Given the description of an element on the screen output the (x, y) to click on. 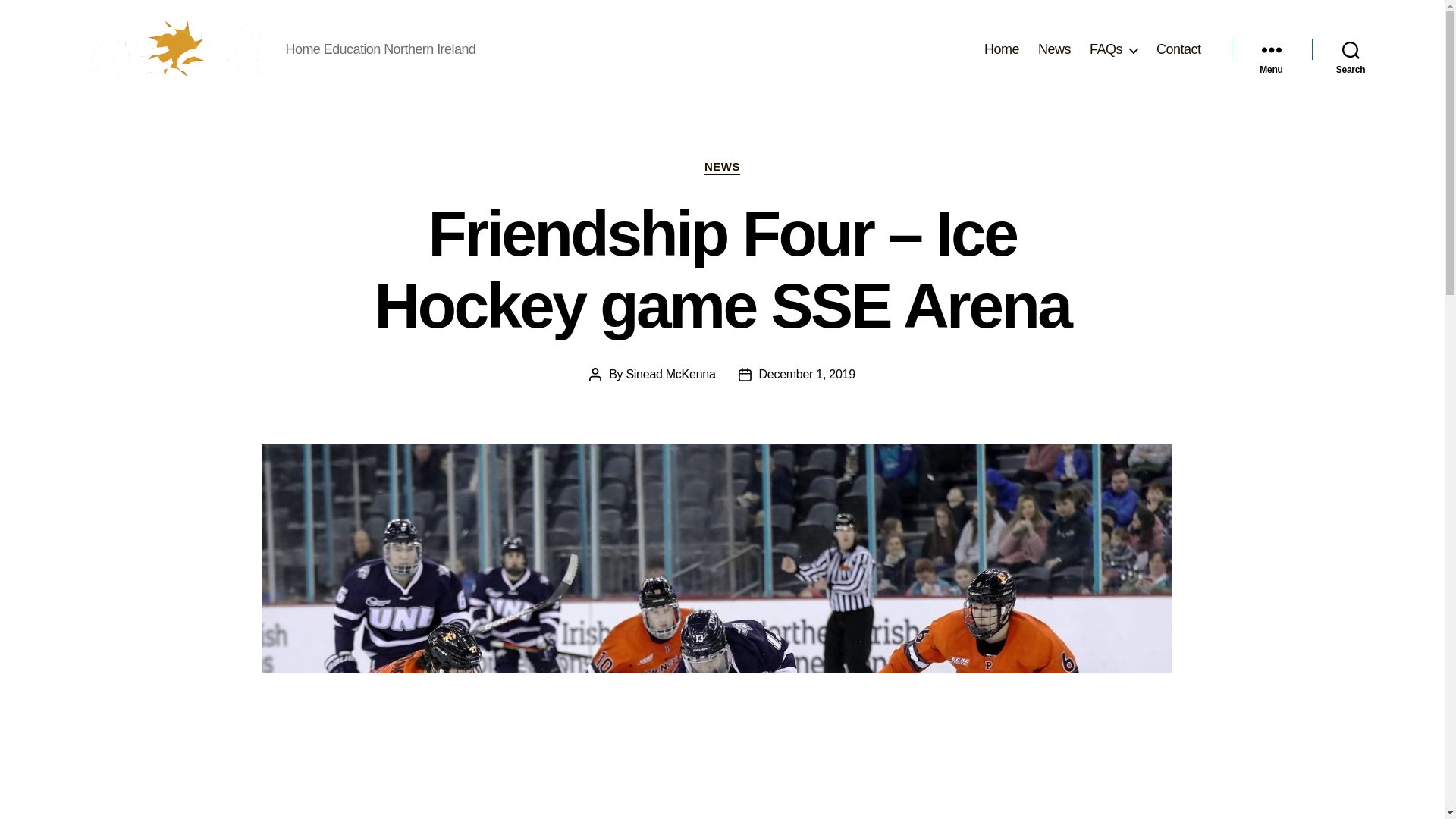
FAQs (1113, 49)
Menu (1271, 49)
News (1054, 49)
Contact (1178, 49)
Search (1350, 49)
Home (1001, 49)
